Given the description of an element on the screen output the (x, y) to click on. 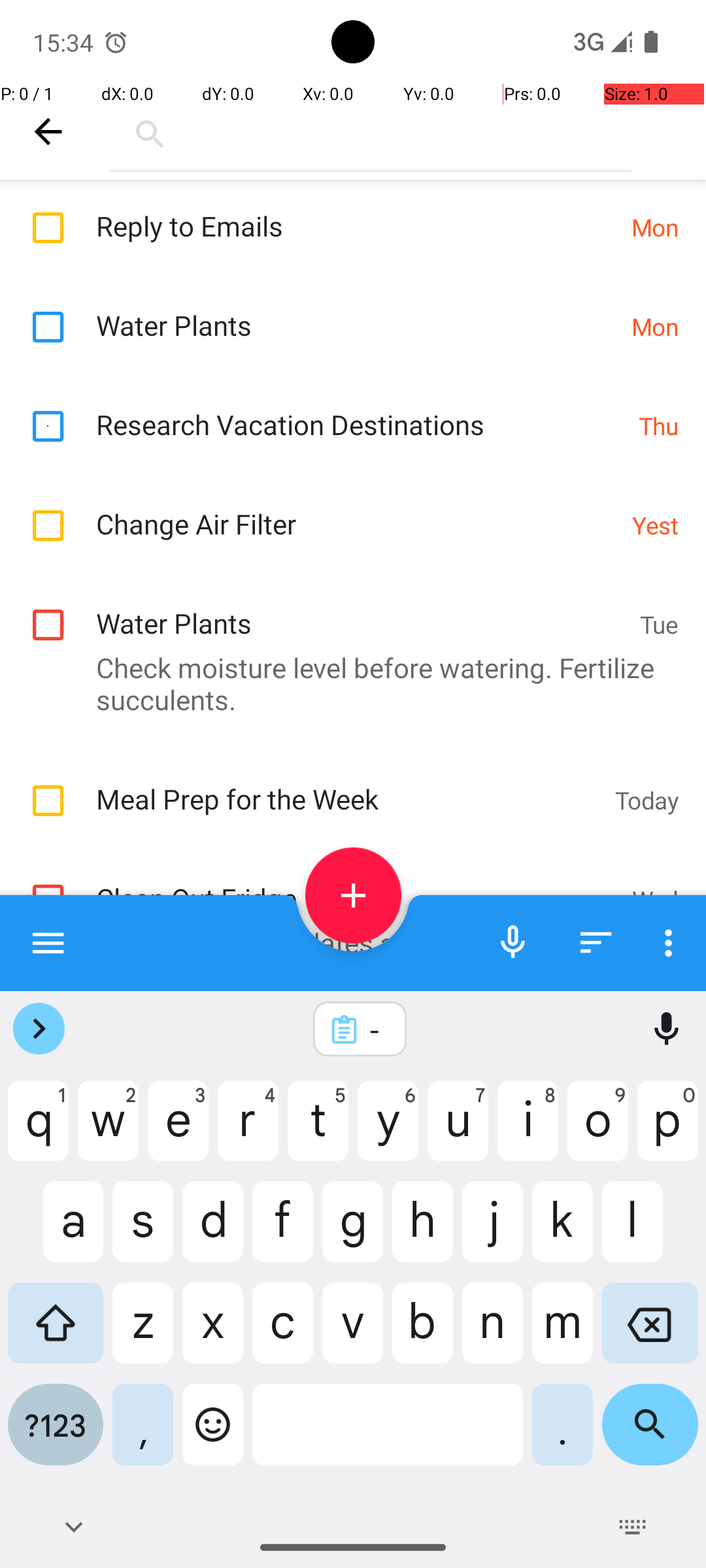
    Element type: android.widget.AutoCompleteTextView (370, 130)
